Given the description of an element on the screen output the (x, y) to click on. 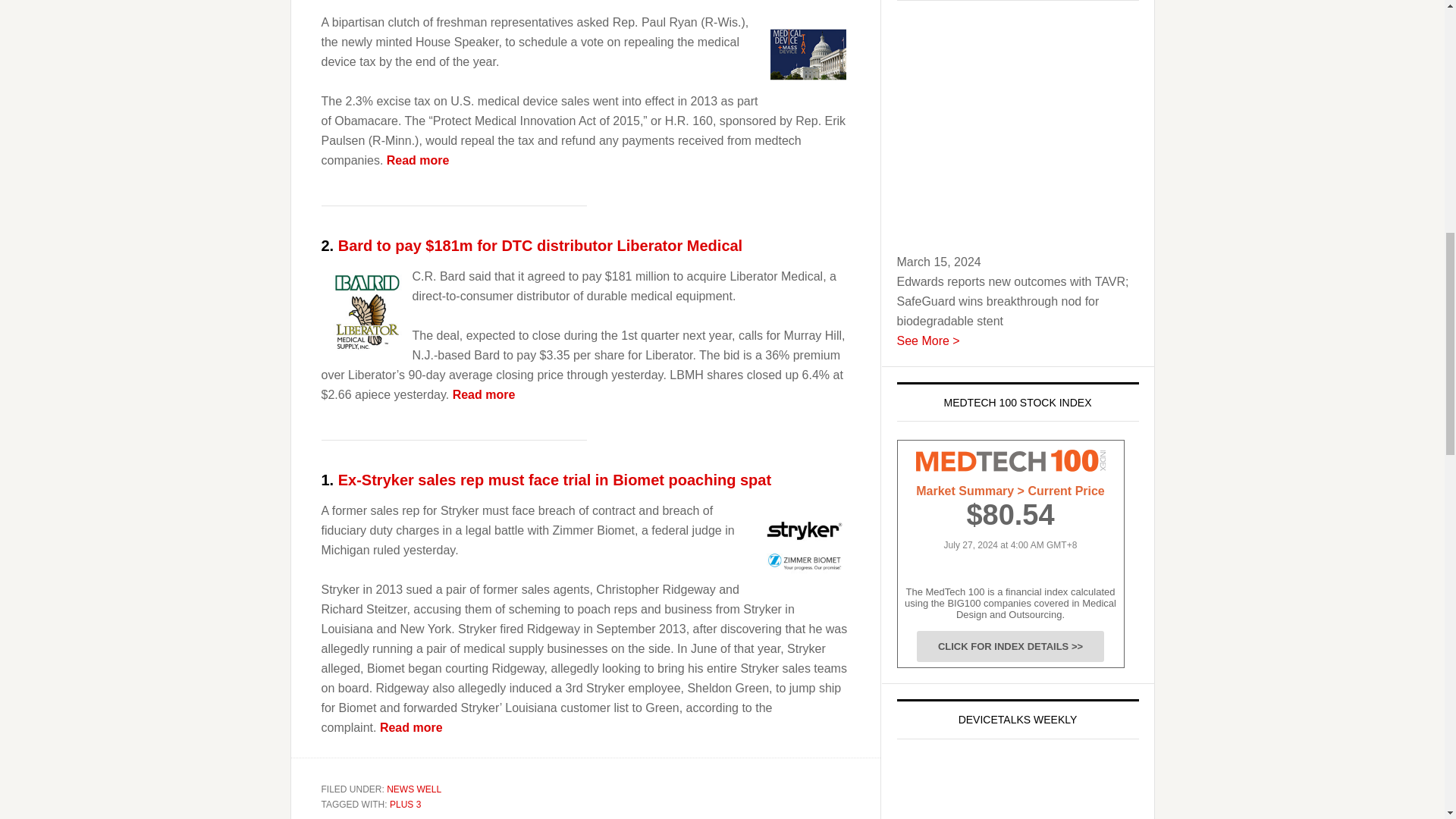
MassDevice.com news (807, 54)
MassDevice.com news (418, 160)
MassDevice.com news (483, 394)
MassDevice.com news (554, 479)
MassDevice.com news (539, 245)
MassDevice.com news (803, 546)
MassDevice.com news (366, 312)
